Given the description of an element on the screen output the (x, y) to click on. 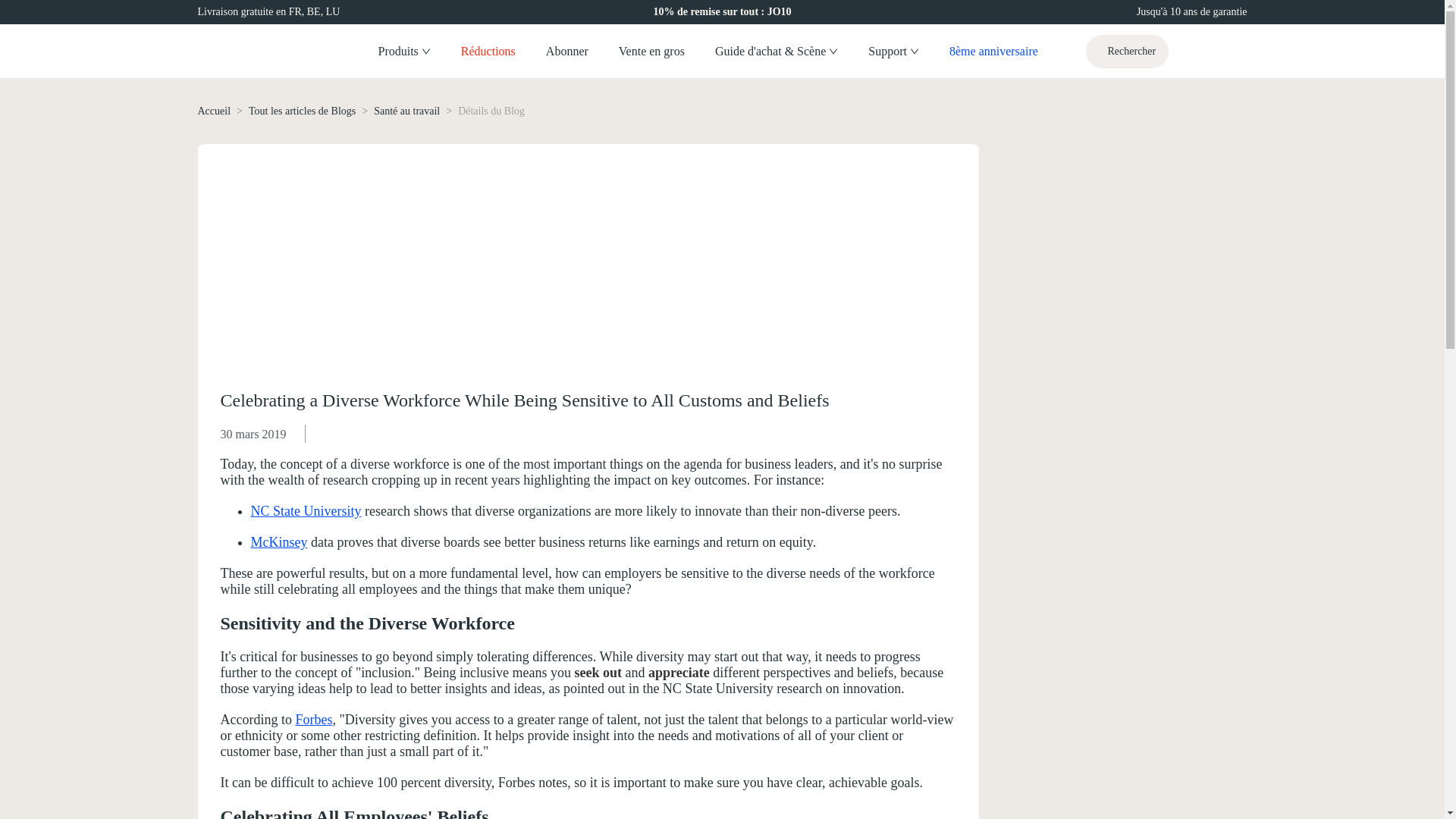
NC State University (305, 510)
Forbes (313, 719)
Accueil (213, 111)
McKinsey (278, 541)
Vente en gros (652, 51)
Tout les articles de Blogs (301, 111)
Abonner (566, 51)
